Given the description of an element on the screen output the (x, y) to click on. 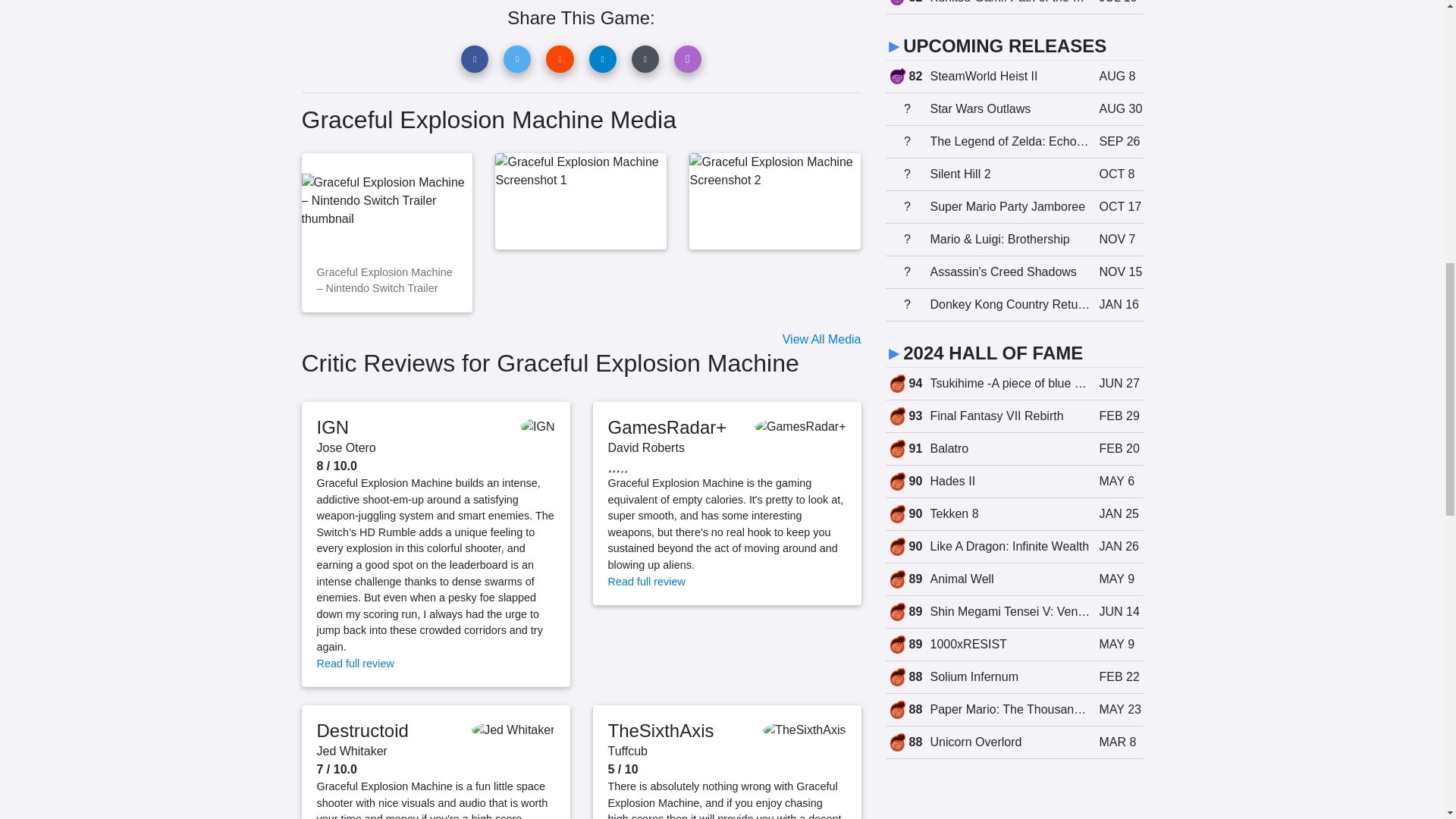
David Roberts (646, 447)
Destructoid (363, 730)
Jose Otero (346, 447)
View All Media (822, 338)
Jed Whitaker (352, 750)
Read full review (646, 581)
Read full review (355, 663)
IGN (333, 426)
